Given the description of an element on the screen output the (x, y) to click on. 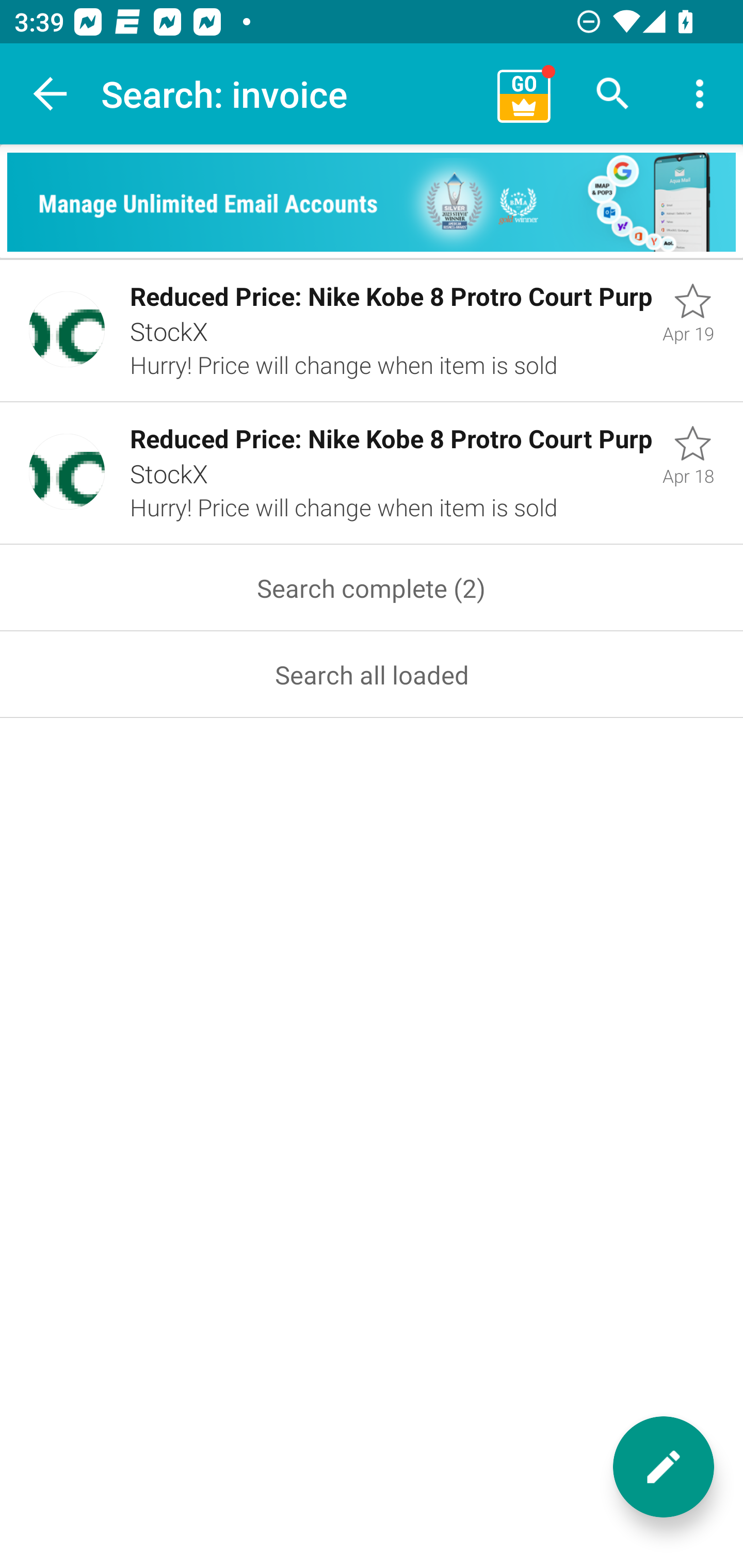
Navigate up (50, 93)
Search (612, 93)
More options (699, 93)
Search complete (2) (371, 587)
Search all loaded (371, 674)
New message (663, 1466)
